Given the description of an element on the screen output the (x, y) to click on. 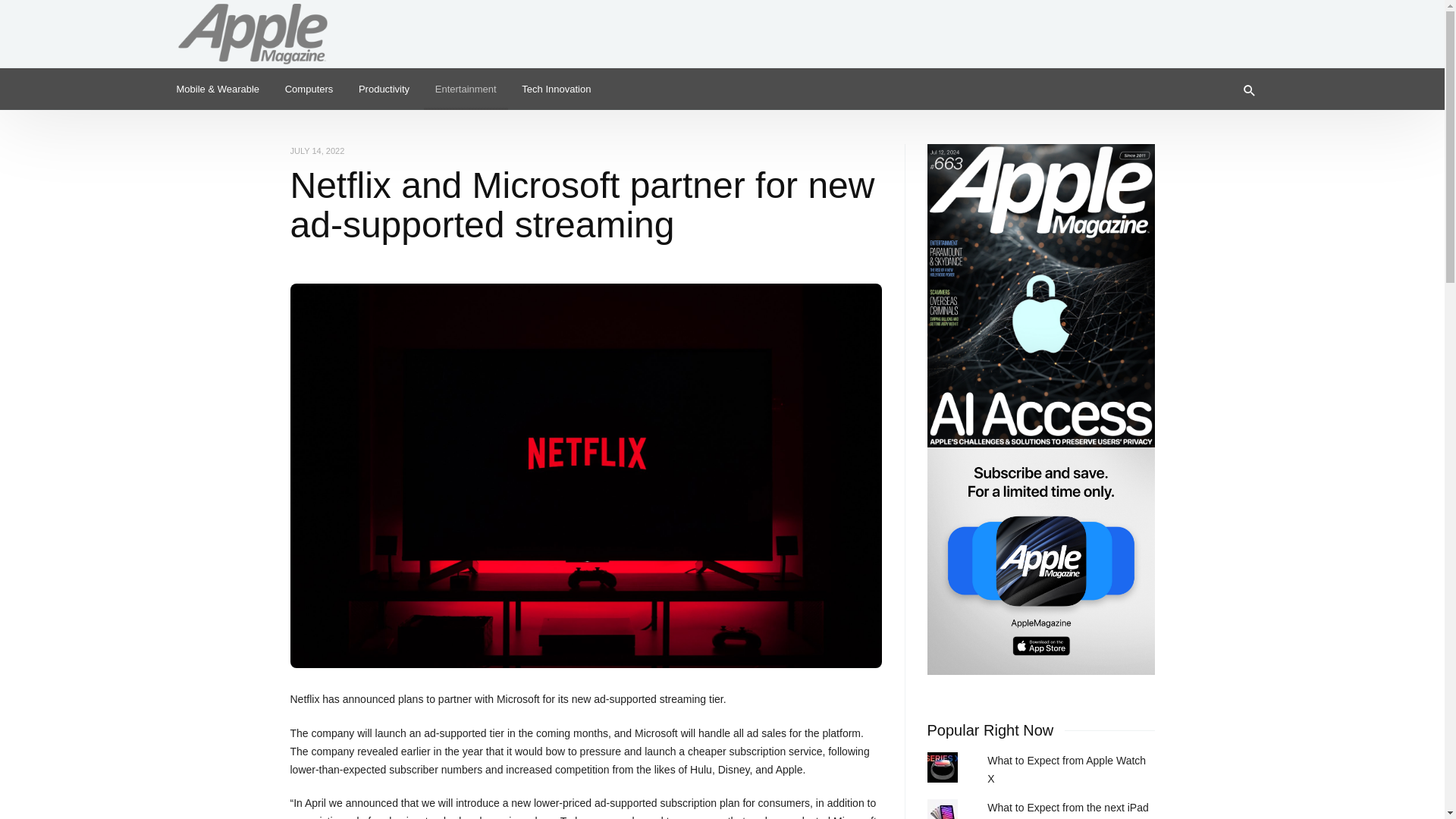
Tech Innovation (556, 88)
Facebook (1252, 26)
Productivity (383, 88)
Entertainment (465, 88)
Twitter (1203, 26)
Computers (309, 88)
Instagram (1228, 26)
